Given the description of an element on the screen output the (x, y) to click on. 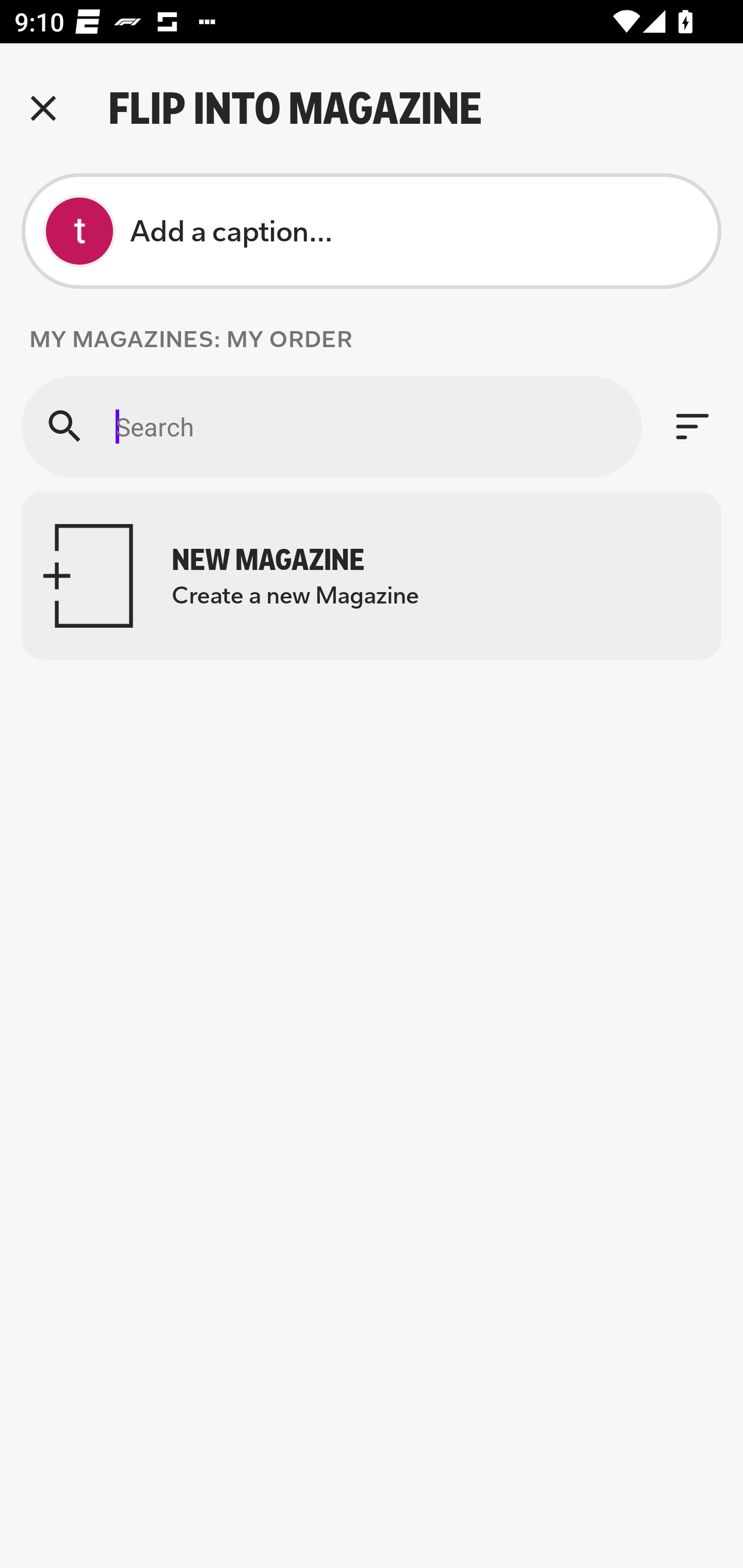
test appium Add a caption… (371, 231)
Search (331, 426)
NEW MAGAZINE Create a new Magazine (371, 575)
